Given the description of an element on the screen output the (x, y) to click on. 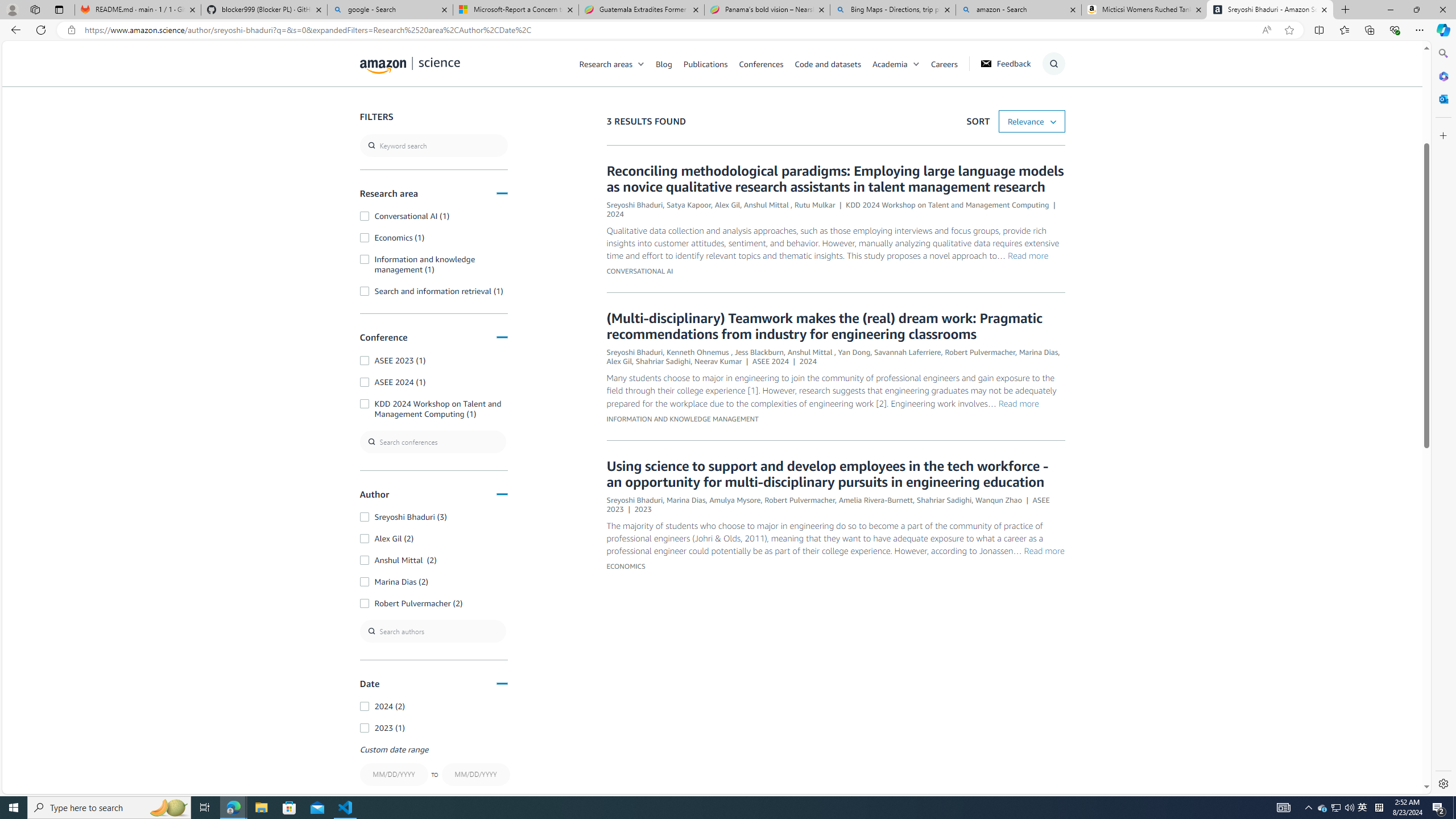
amazon-science-logo.svg (409, 65)
Research areas (606, 63)
Robert Pulvermacher (799, 499)
Marina Dias (685, 499)
Shahriar Sadighi (943, 499)
Custom date rangeTO (433, 766)
